Given the description of an element on the screen output the (x, y) to click on. 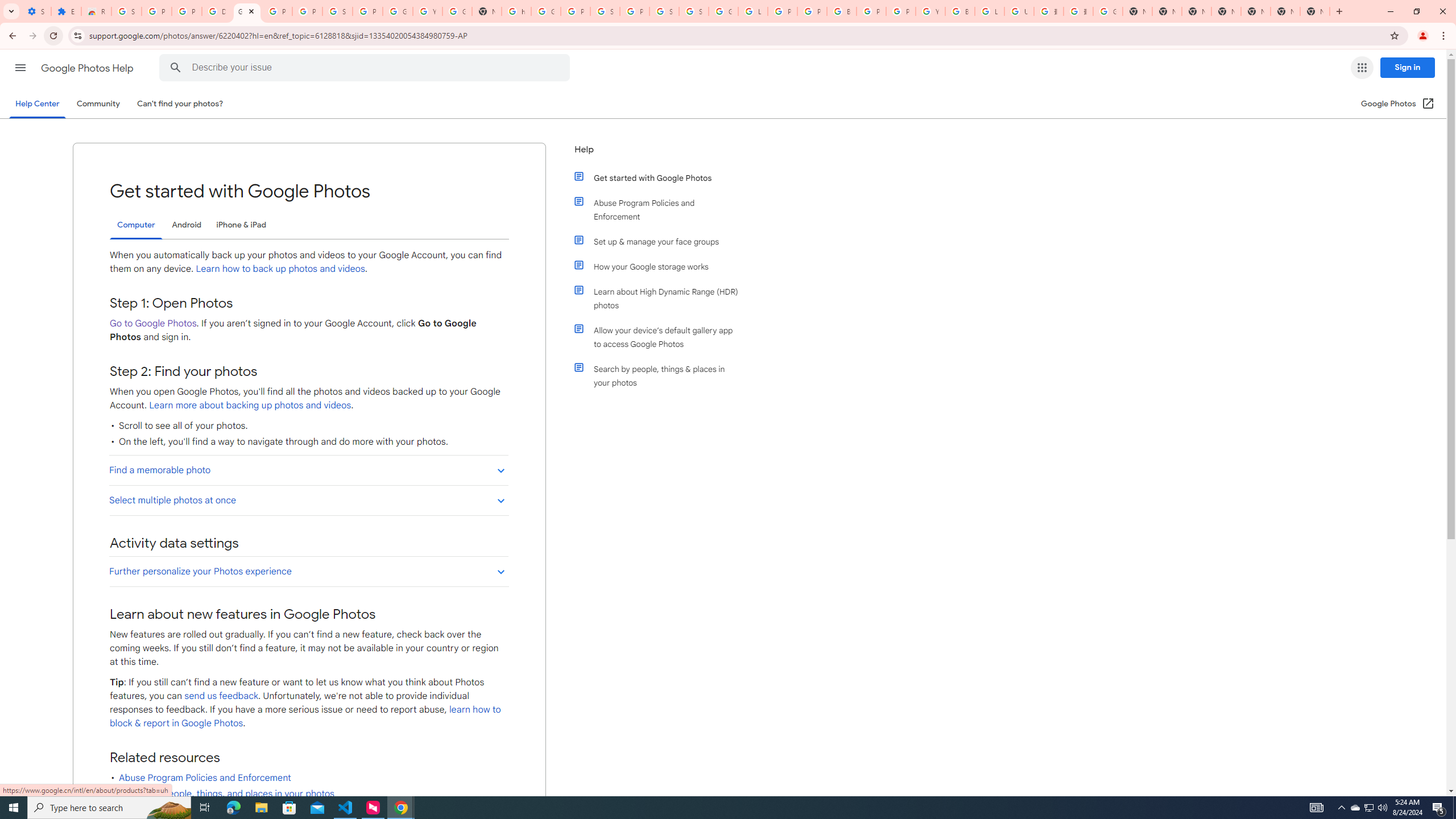
Sign in - Google Accounts (693, 11)
Select multiple photos at once (308, 499)
Main menu (20, 67)
Can't find your photos? (180, 103)
Go to Google Photos (152, 323)
Google Photos (Open in a new window) (1397, 103)
Community (97, 103)
Learn about High Dynamic Range (HDR) photos (661, 298)
